Given the description of an element on the screen output the (x, y) to click on. 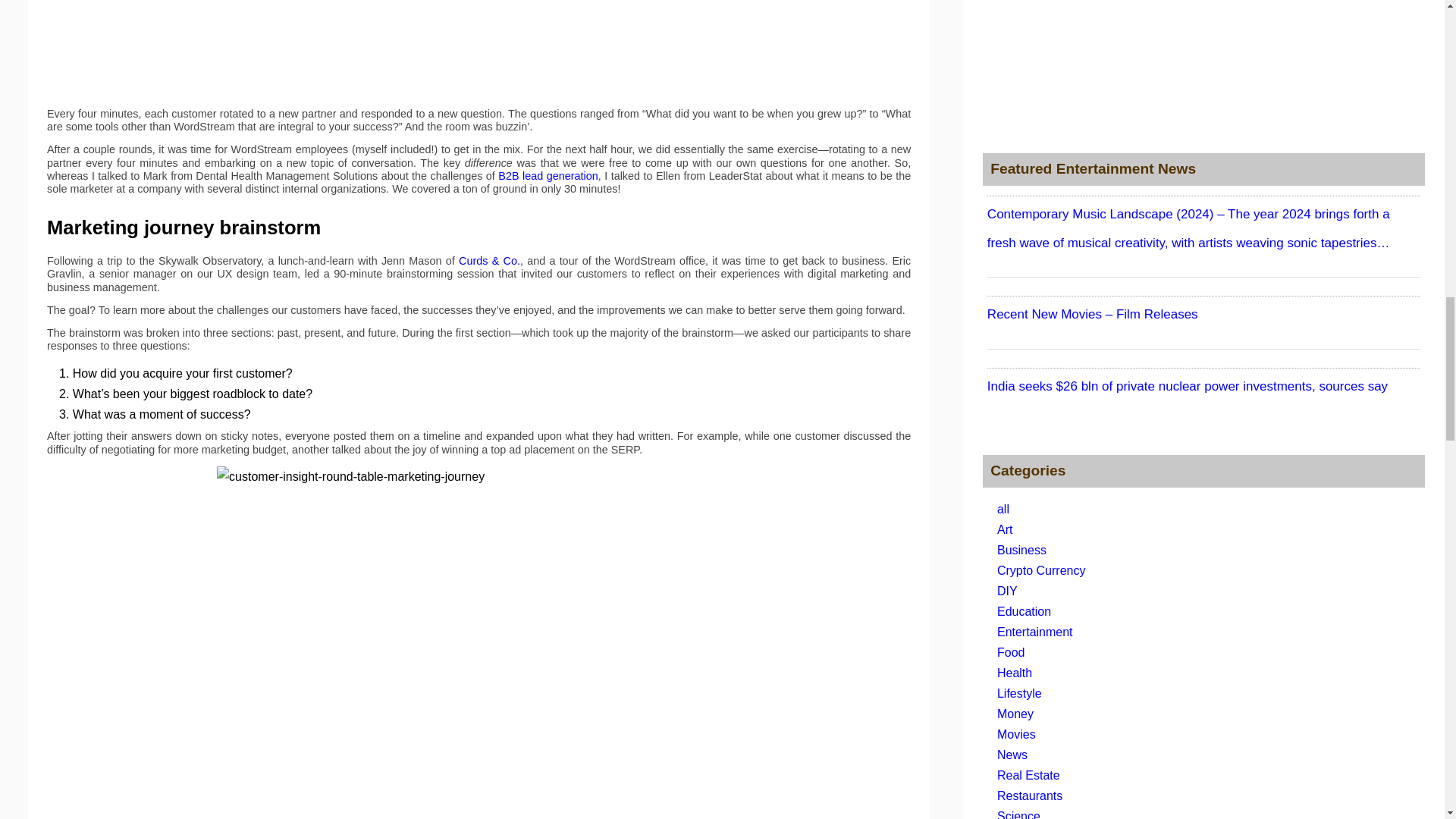
B2B lead generation (546, 175)
